Given the description of an element on the screen output the (x, y) to click on. 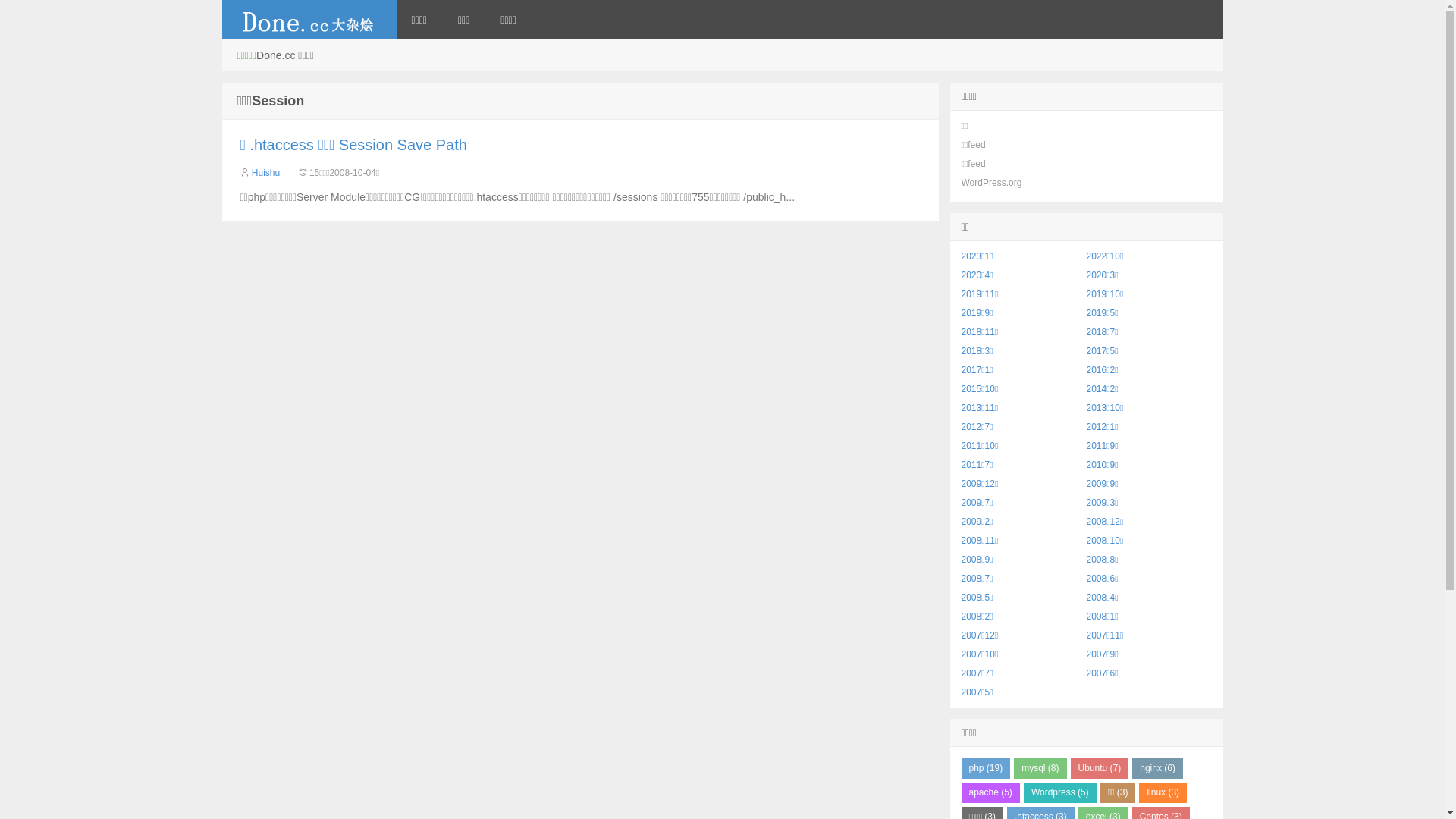
WordPress.org Element type: text (991, 182)
Wordpress (5) Element type: text (1059, 792)
linux (3) Element type: text (1162, 792)
nginx (6) Element type: text (1157, 768)
apache (5) Element type: text (990, 792)
mysql (8) Element type: text (1039, 768)
Done.cc Element type: text (308, 19)
Ubuntu (7) Element type: text (1099, 768)
Huishu Element type: text (265, 172)
php (19) Element type: text (985, 768)
